Given the description of an element on the screen output the (x, y) to click on. 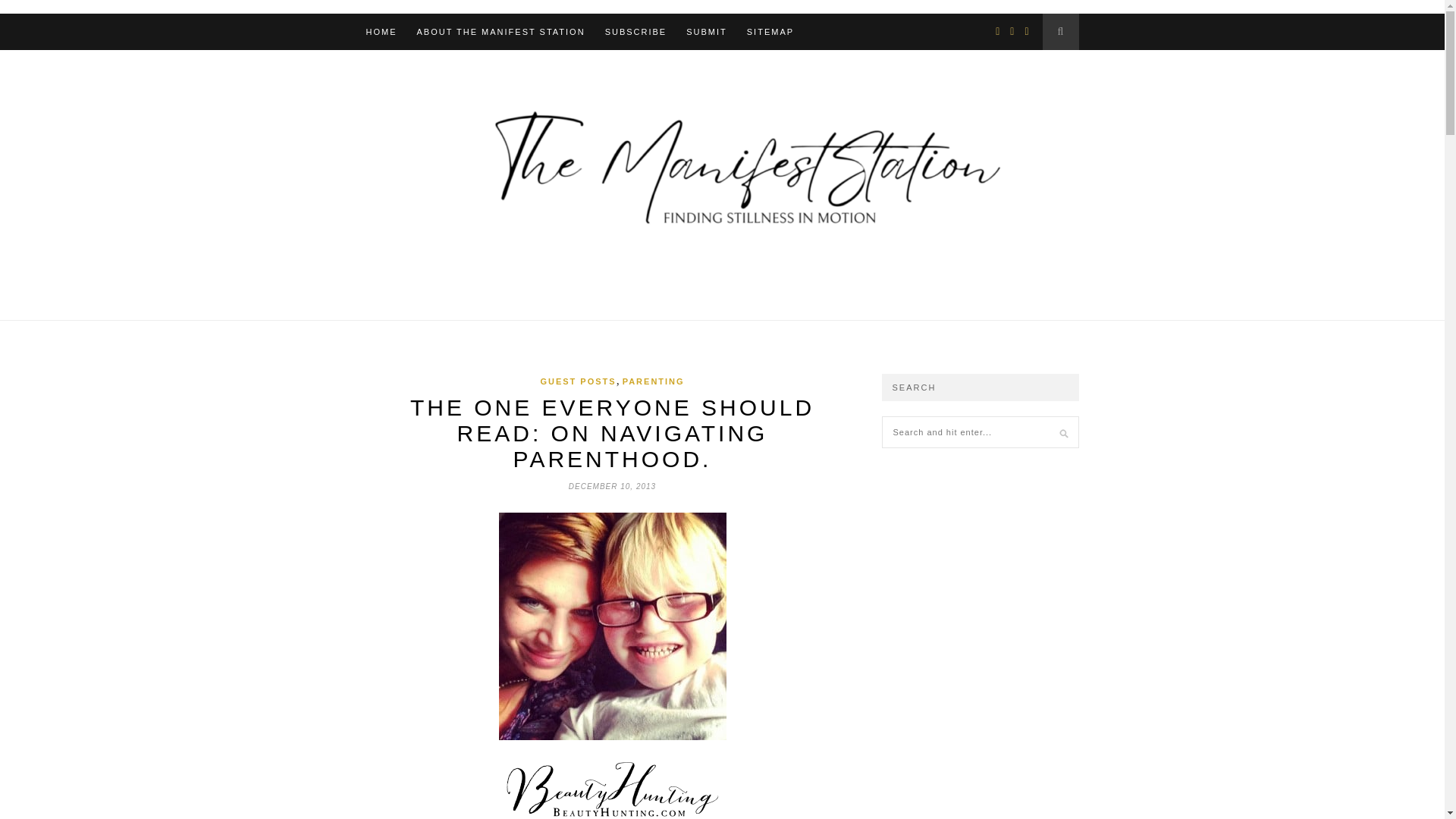
View all posts in parenting (653, 380)
HOME (380, 31)
SUBMIT (705, 31)
SUBSCRIBE (635, 31)
ABOUT THE MANIFEST STATION (500, 31)
GUEST POSTS (577, 380)
View all posts in Guest Posts (577, 380)
SITEMAP (769, 31)
PARENTING (653, 380)
